Given the description of an element on the screen output the (x, y) to click on. 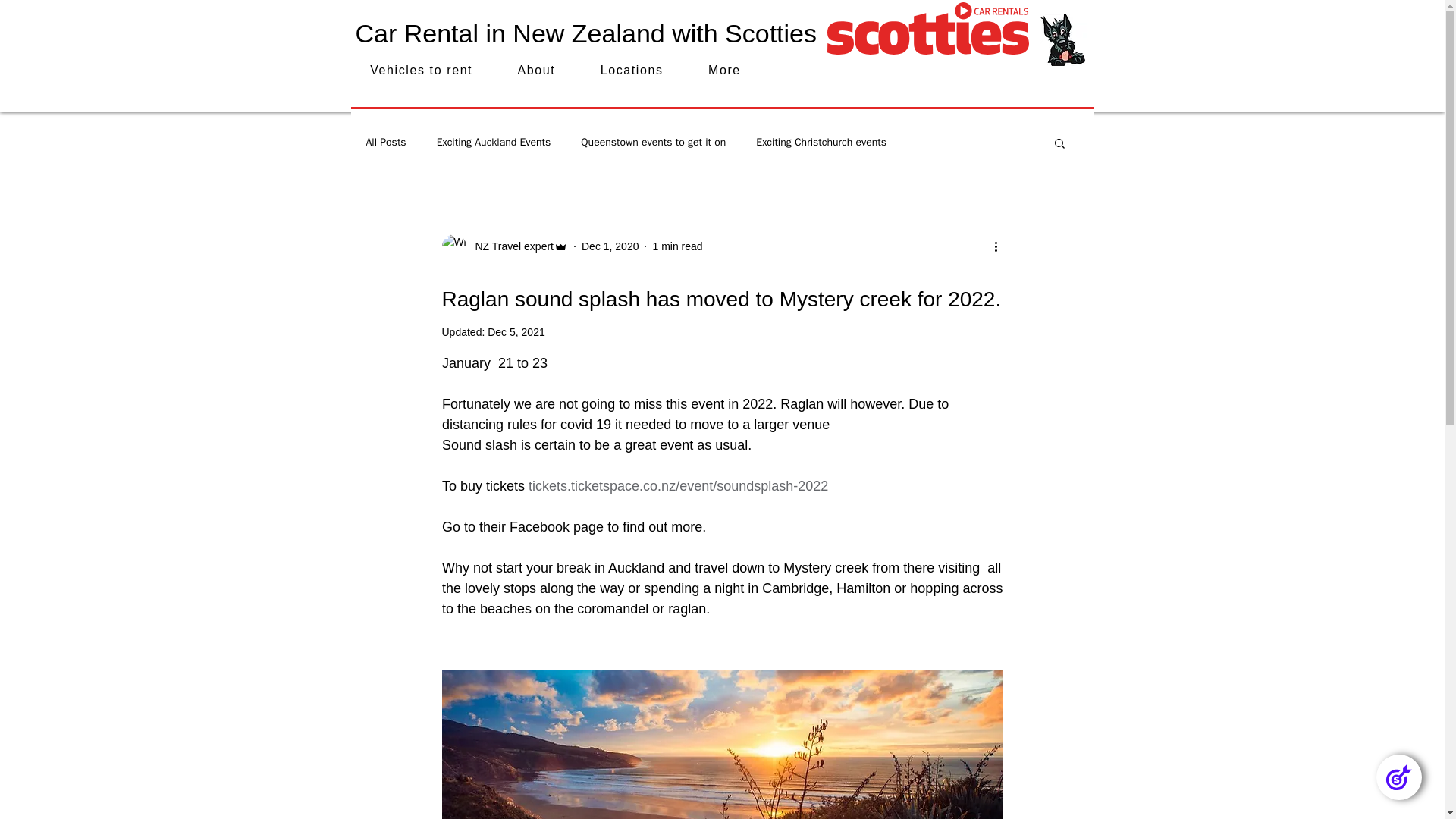
Dec 1, 2020 (609, 245)
All Posts (385, 142)
Car Rental in New Zealand with Scotties (585, 32)
Exciting Auckland Events (493, 142)
Get a car rental cheaper (1062, 39)
NZ Travel expert (509, 245)
About (536, 71)
Locations (631, 71)
Queenstown events to get it on (652, 142)
Dec 5, 2021 (515, 331)
1 min read (676, 245)
